Given the description of an element on the screen output the (x, y) to click on. 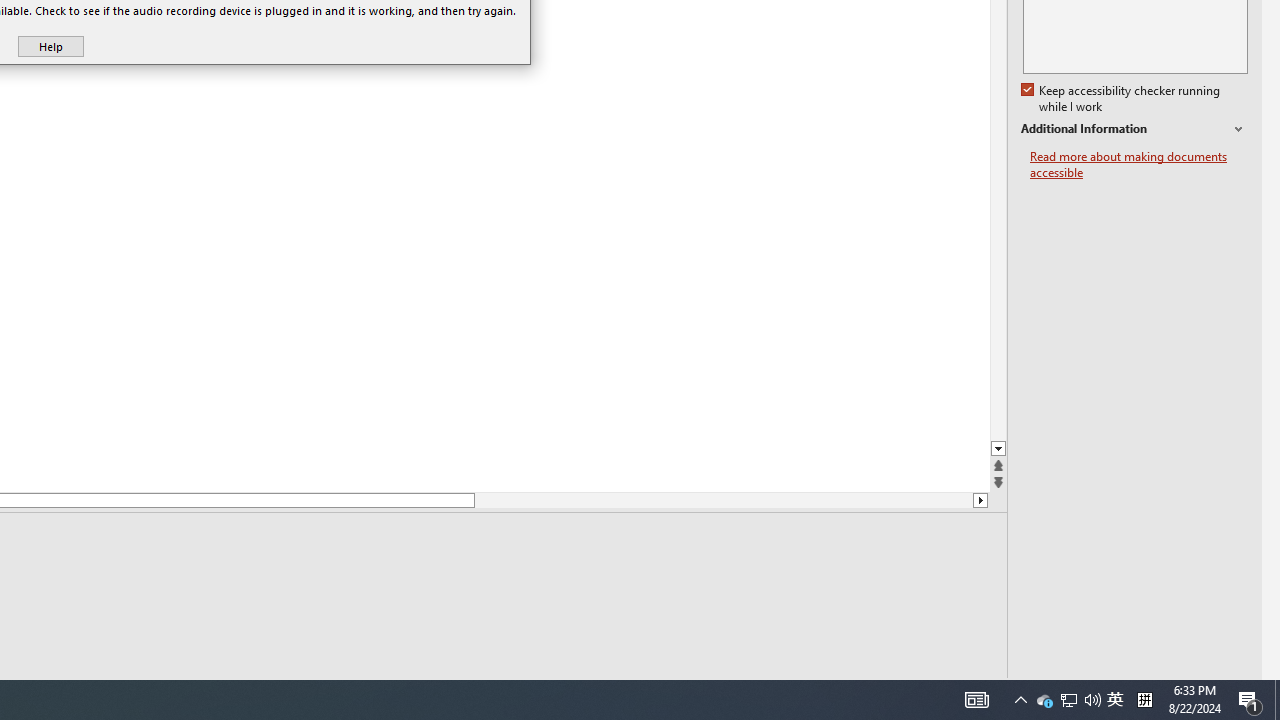
Q2790: 100% (1092, 699)
Action Center, 1 new notification (1250, 699)
Tray Input Indicator - Chinese (Simplified, China) (1144, 699)
Keep accessibility checker running while I work (1122, 99)
Notification Chevron (1020, 699)
AutomationID: 4105 (1115, 699)
